Given the description of an element on the screen output the (x, y) to click on. 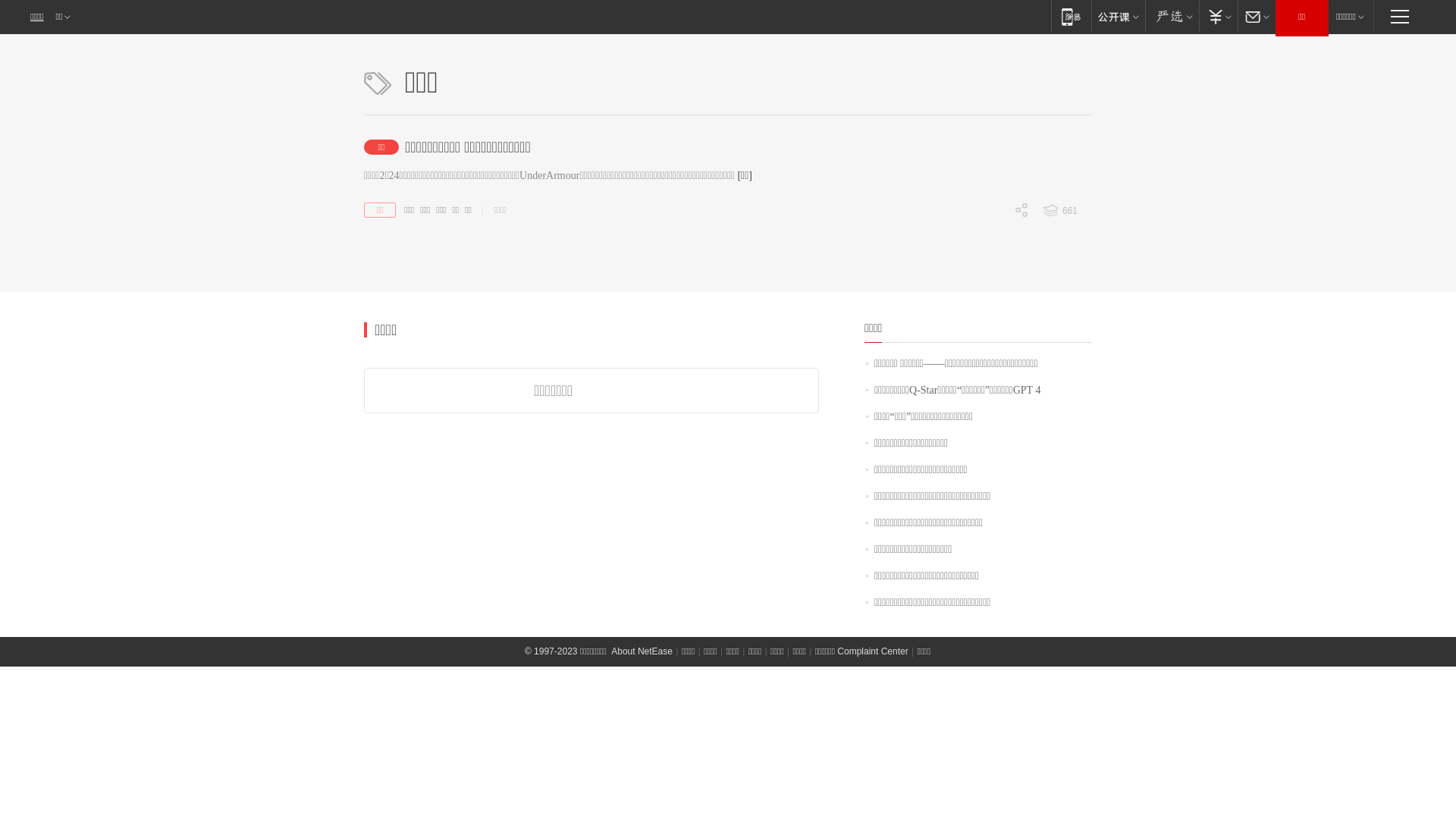
0 Element type: text (991, 289)
0 Element type: text (991, 316)
0 Element type: text (991, 236)
661 Element type: text (1065, 210)
About NetEase Element type: text (641, 651)
